Given the description of an element on the screen output the (x, y) to click on. 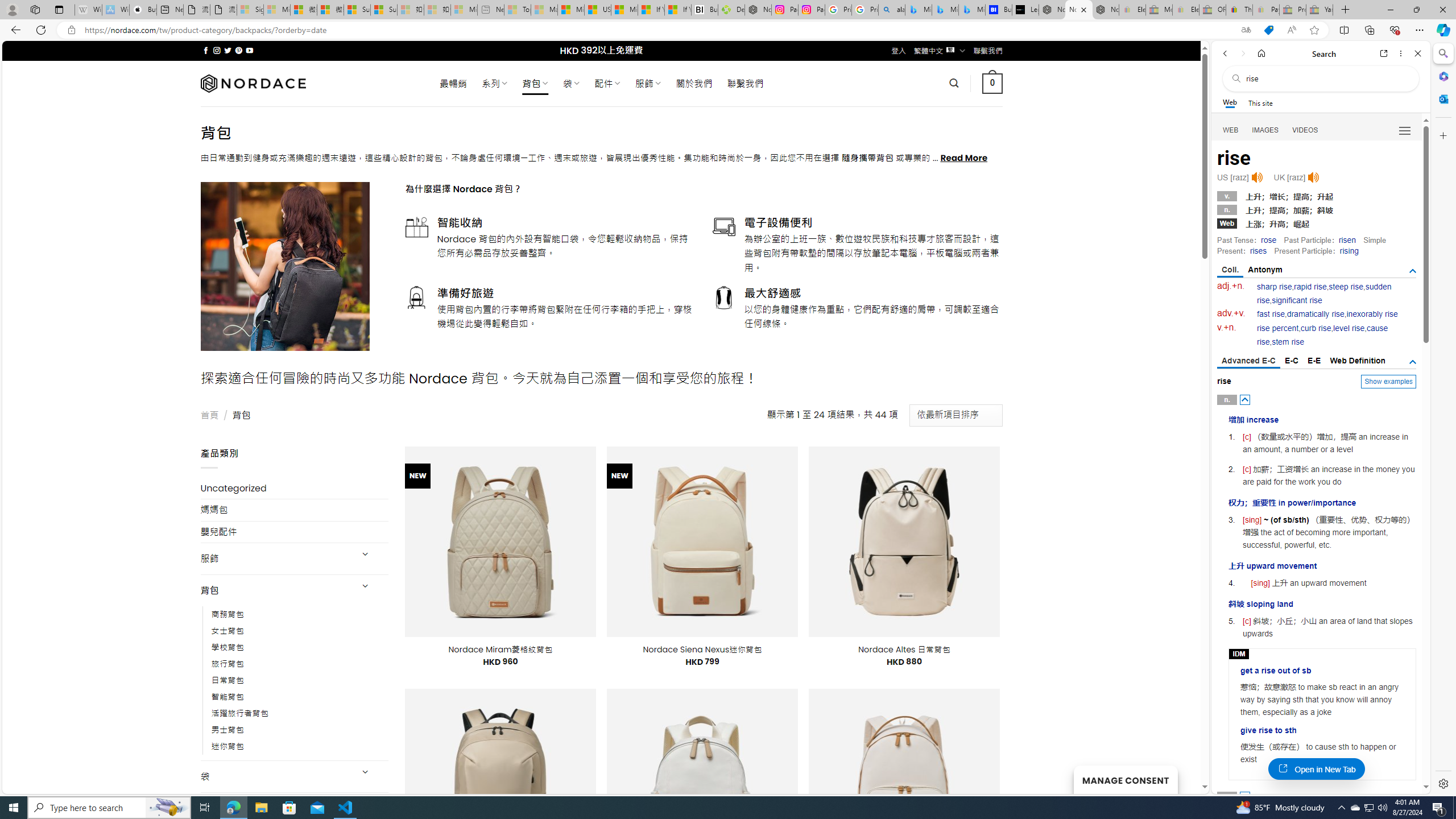
Microsoft Bing Travel - Flights from Hong Kong to Bangkok (917, 9)
AutomationID: tgdef (1412, 362)
Advanced E-C (1248, 361)
Preferences (1403, 129)
Sign in to your Microsoft account - Sleeping (249, 9)
